Given the description of an element on the screen output the (x, y) to click on. 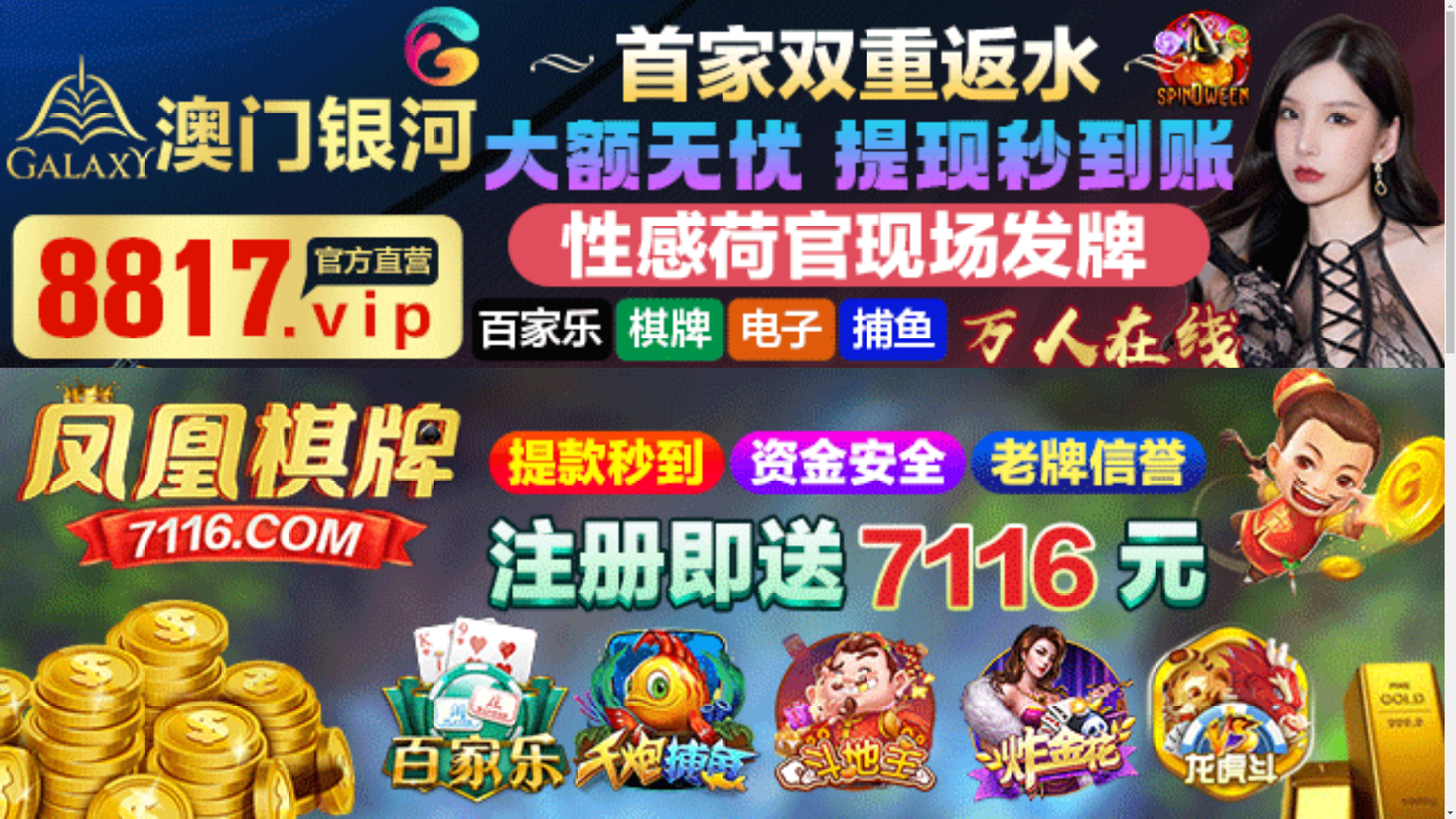
91TV Element type: hover (1240, 593)
